Given the description of an element on the screen output the (x, y) to click on. 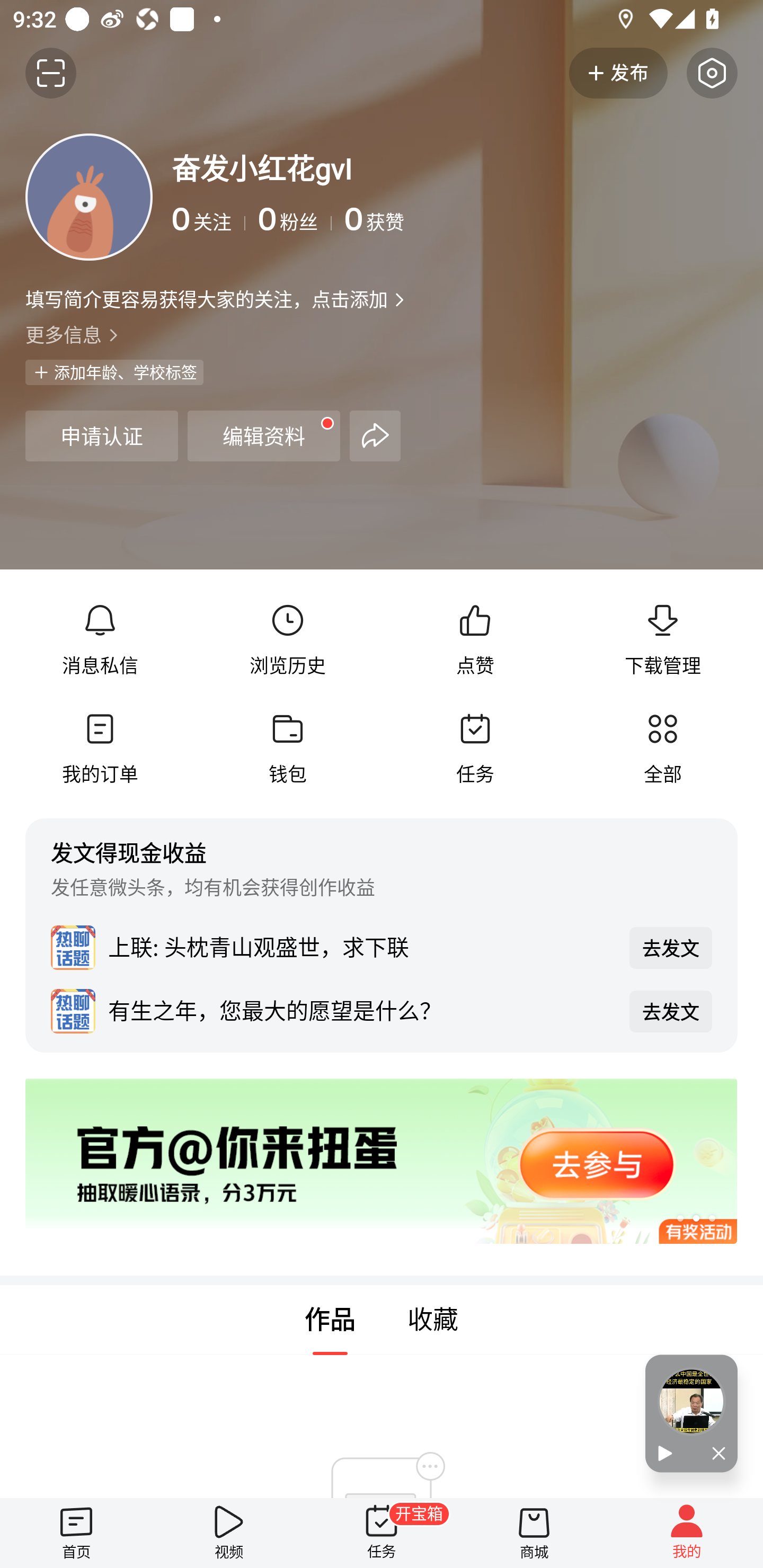
扫一扫 (50, 72)
发布 (618, 72)
设置 (711, 72)
头像 (88, 196)
0 关注 (208, 219)
0 粉丝 (294, 219)
0 获赞 (540, 219)
填写简介更容易获得大家的关注，点击添加 (206, 298)
更多信息 (381, 333)
添加年龄、学校标签 (114, 372)
申请认证 (101, 435)
编辑资料 (263, 435)
分享 (374, 435)
消息私信 (99, 639)
浏览历史 (287, 639)
点赞 (475, 639)
下载管理 (662, 639)
我的订单 (99, 748)
钱包 (287, 748)
任务 (475, 748)
全部 (662, 748)
发任意微头条，均有机会获得创作收益 (213, 886)
上联: 头枕青山观盛世，求下联 (362, 947)
去发文 (670, 947)
有生之年，您最大的愿望是什么？ (362, 1010)
去发文 (670, 1010)
图片链接 (368, 1160)
作品 (329, 1319)
收藏 (432, 1319)
当前进度 0% 播放 关闭 (691, 1413)
播放 (668, 1454)
关闭 (714, 1454)
首页 (76, 1532)
视频 (228, 1532)
任务 开宝箱 (381, 1532)
商城 (533, 1532)
我的 (686, 1532)
